Given the description of an element on the screen output the (x, y) to click on. 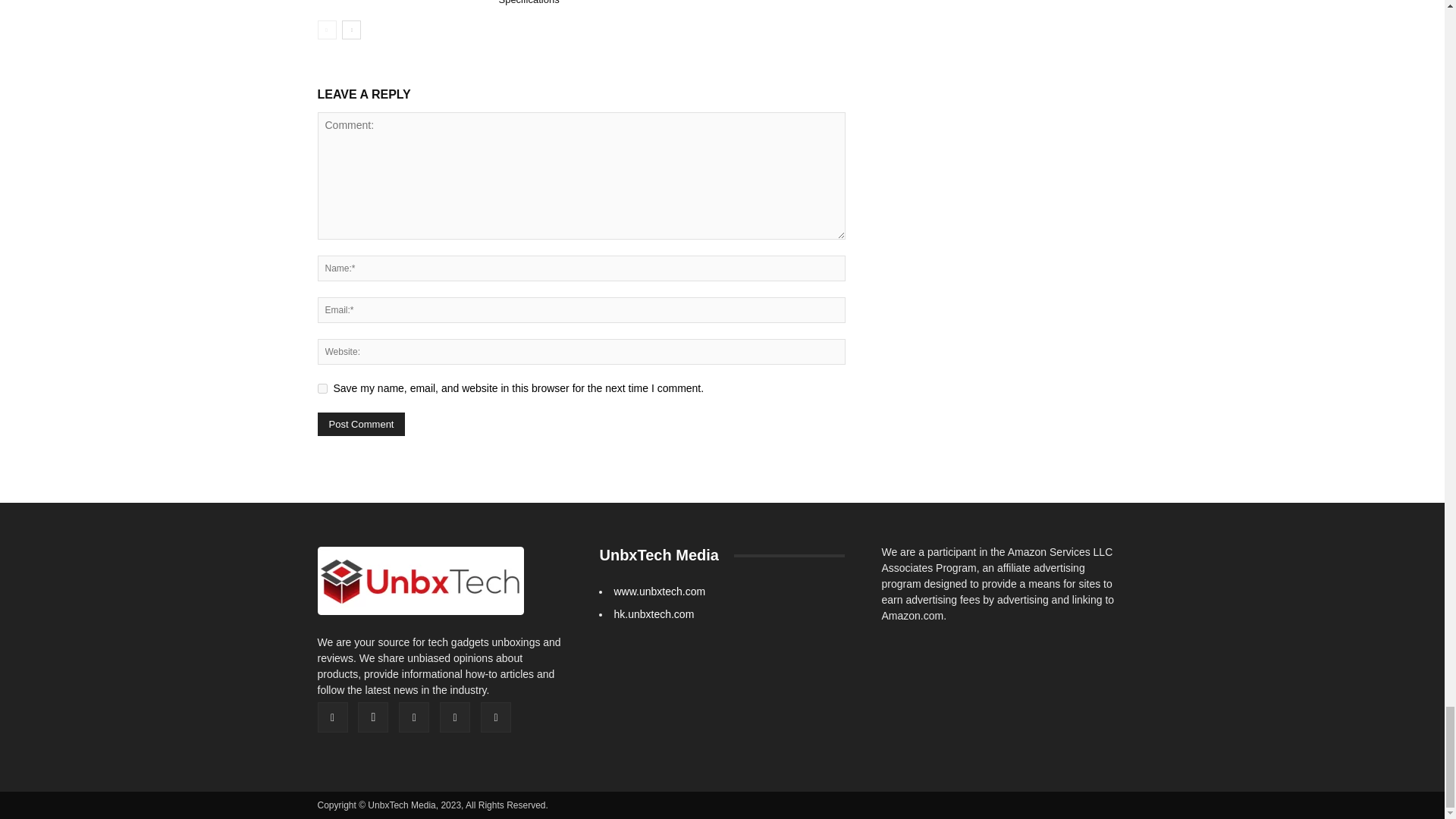
Post Comment (360, 423)
yes (321, 388)
